Given the description of an element on the screen output the (x, y) to click on. 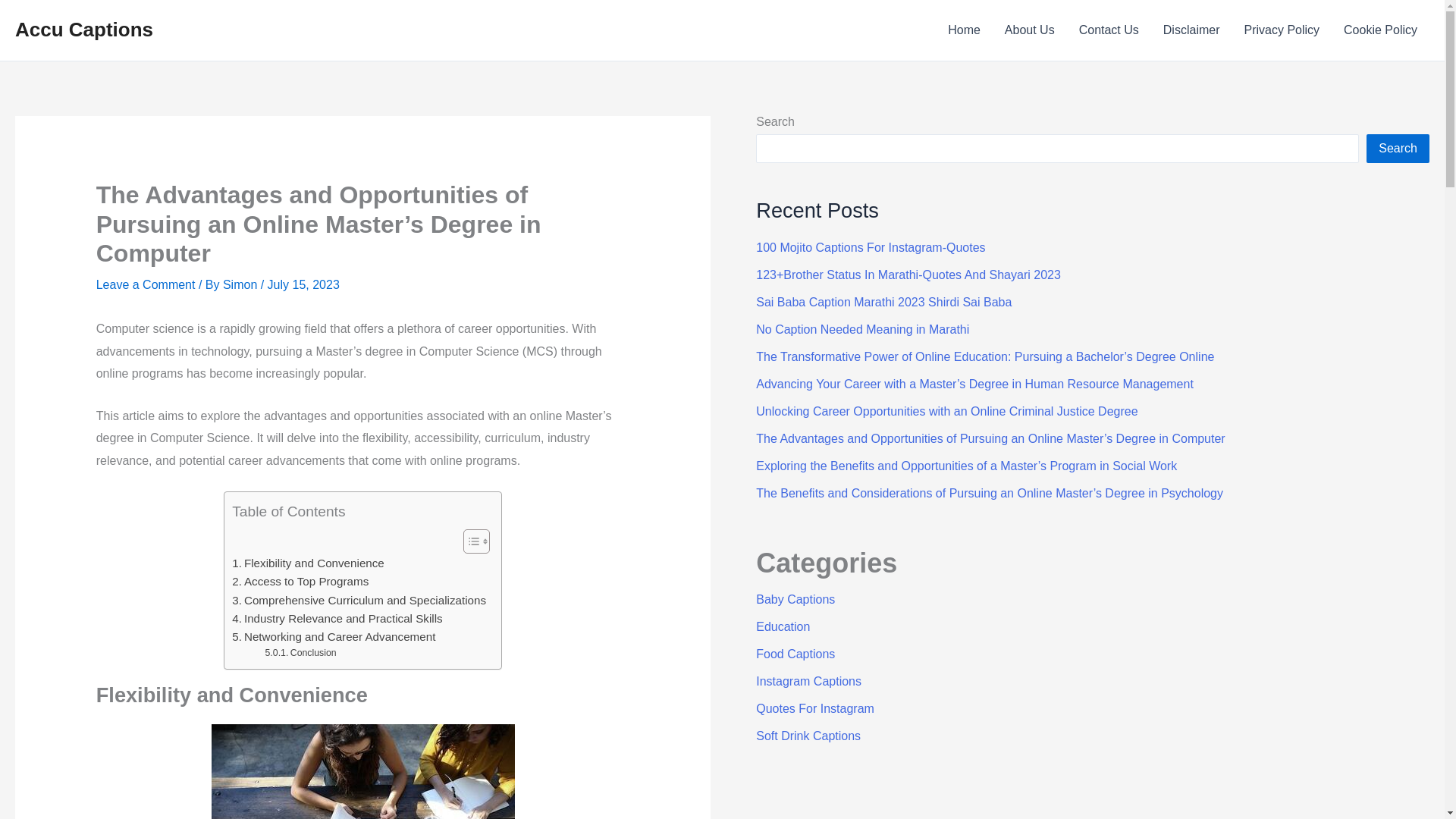
Comprehensive Curriculum and Specializations (358, 600)
Flexibility and Convenience (307, 563)
Cookie Policy (1380, 30)
Contact Us (1109, 30)
Baby Captions (794, 599)
View all posts by Simon (241, 284)
Simon (241, 284)
Industry Relevance and Practical Skills (336, 618)
No Caption Needed Meaning in Marathi (862, 328)
Industry Relevance and Practical Skills (336, 618)
Comprehensive Curriculum and Specializations (358, 600)
Leave a Comment (145, 284)
Home (964, 30)
Sai Baba Caption Marathi 2023 Shirdi Sai Baba (883, 301)
Disclaimer (1191, 30)
